Given the description of an element on the screen output the (x, y) to click on. 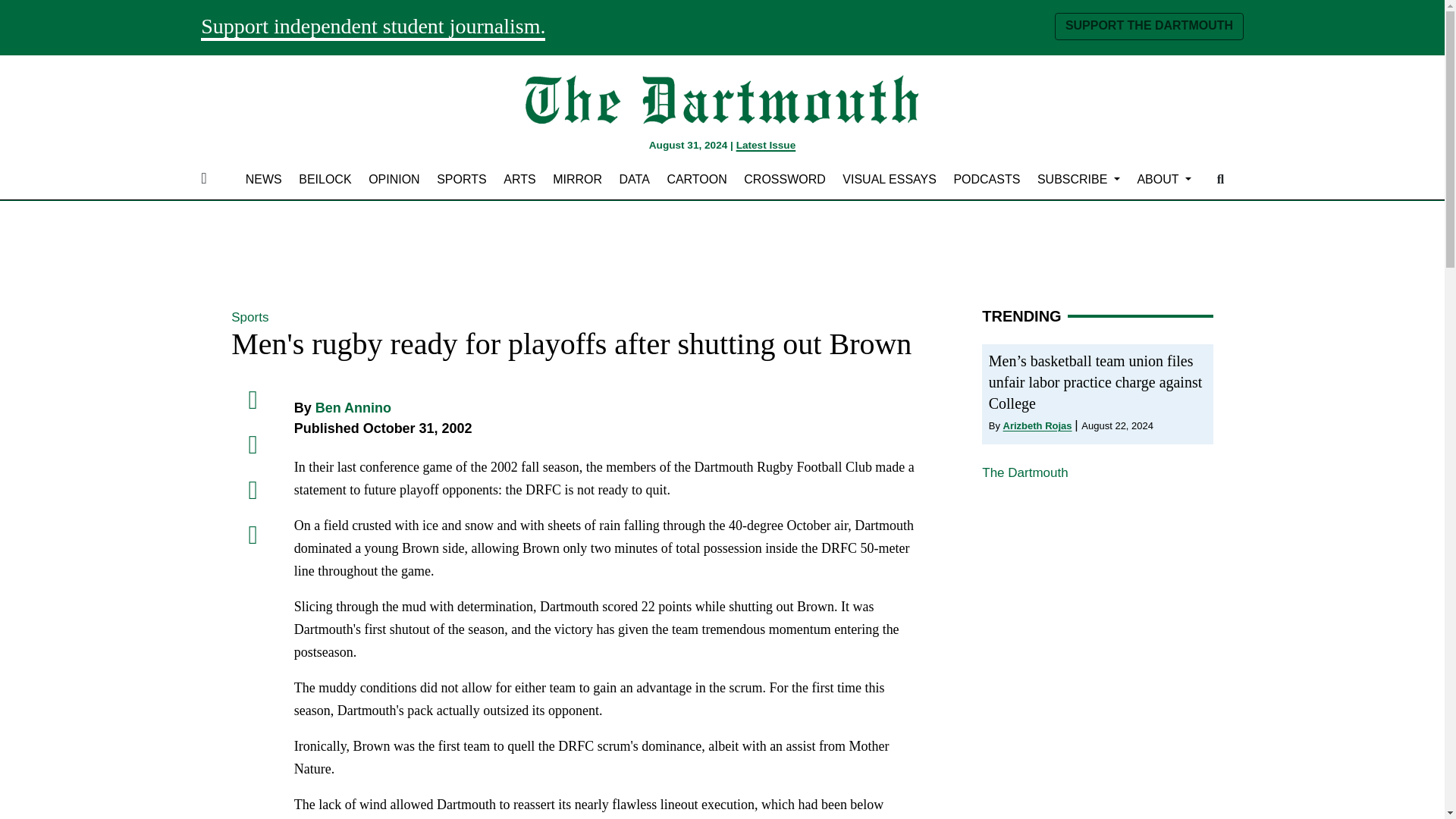
Arts (519, 179)
CROSSWORD (784, 179)
Opinion (394, 179)
BEILOCK (325, 179)
ABOUT (1163, 179)
SUBSCRIBE (1077, 179)
PODCASTS (986, 179)
ARTS (519, 179)
SUPPORT THE DARTMOUTH (1148, 26)
DATA (634, 179)
